Given the description of an element on the screen output the (x, y) to click on. 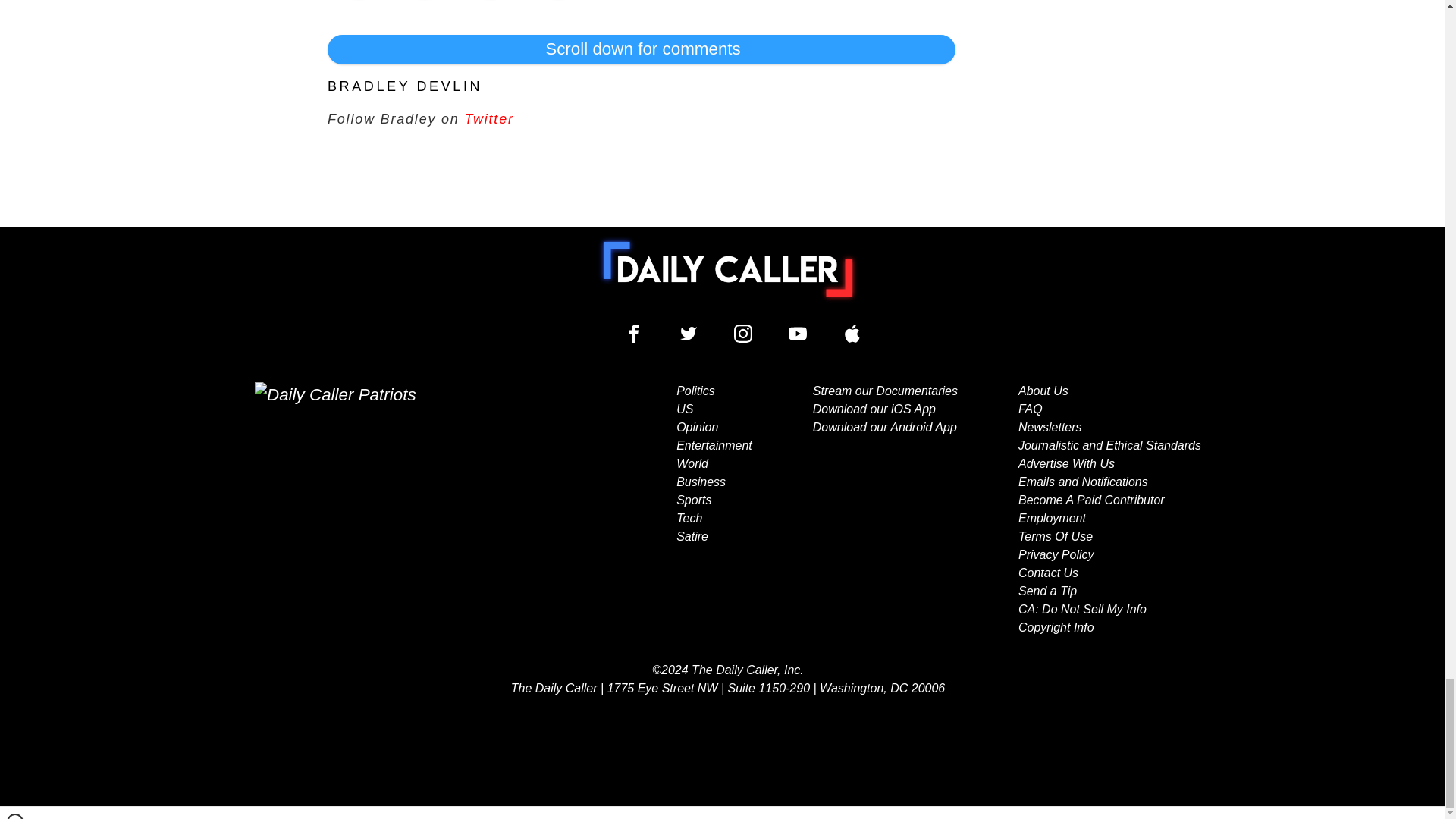
Subscribe to The Daily Caller (405, 509)
Daily Caller Twitter (688, 333)
Daily Caller YouTube (797, 333)
Scroll down for comments (641, 49)
To home page (727, 268)
Daily Caller YouTube (852, 333)
Daily Caller Facebook (633, 333)
Daily Caller Instagram (742, 333)
